Given the description of an element on the screen output the (x, y) to click on. 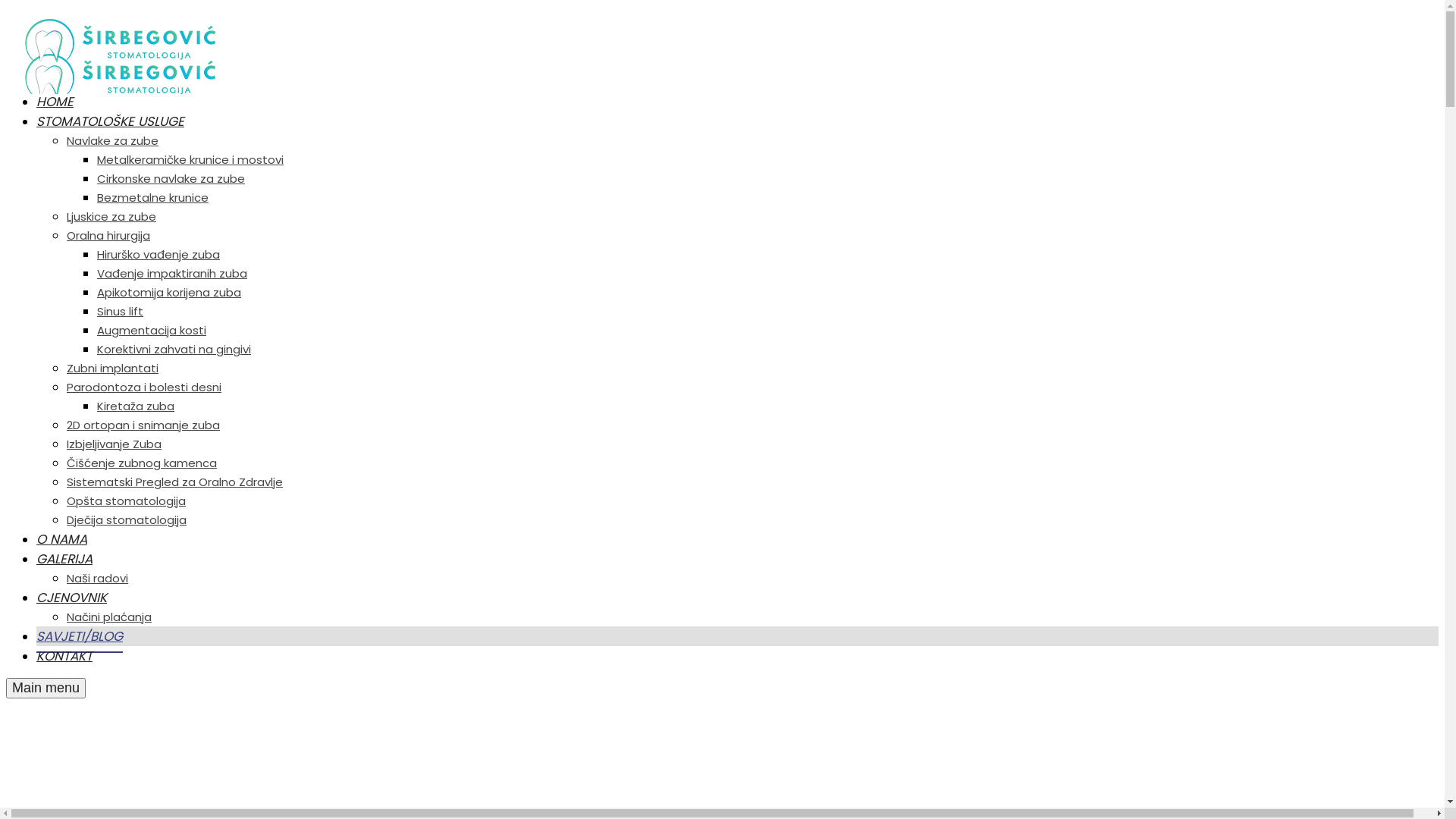
O NAMA Element type: text (61, 538)
Zubni implantati Element type: text (112, 368)
Sinus lift Element type: text (120, 311)
GALERIJA Element type: text (64, 558)
Cirkonske navlake za zube Element type: text (170, 178)
HOME Element type: text (54, 101)
Apikotomija korijena zuba Element type: text (169, 292)
Navlake za zube Element type: text (112, 140)
Sistematski Pregled za Oralno Zdravlje Element type: text (174, 481)
Parodontoza i bolesti desni Element type: text (143, 387)
SAVJETI/BLOG Element type: text (79, 635)
Bezmetalne krunice Element type: text (152, 197)
Izbjeljivanje Zuba Element type: text (113, 443)
Oralna hirurgija Element type: text (108, 235)
KONTAKT Element type: text (64, 655)
CJENOVNIK Element type: text (71, 597)
Ljuskice za zube Element type: text (111, 216)
Korektivni zahvati na gingivi Element type: text (174, 349)
Augmentacija kosti Element type: text (151, 330)
2D ortopan i snimanje zuba Element type: text (142, 425)
Main menu Element type: text (45, 687)
